Given the description of an element on the screen output the (x, y) to click on. 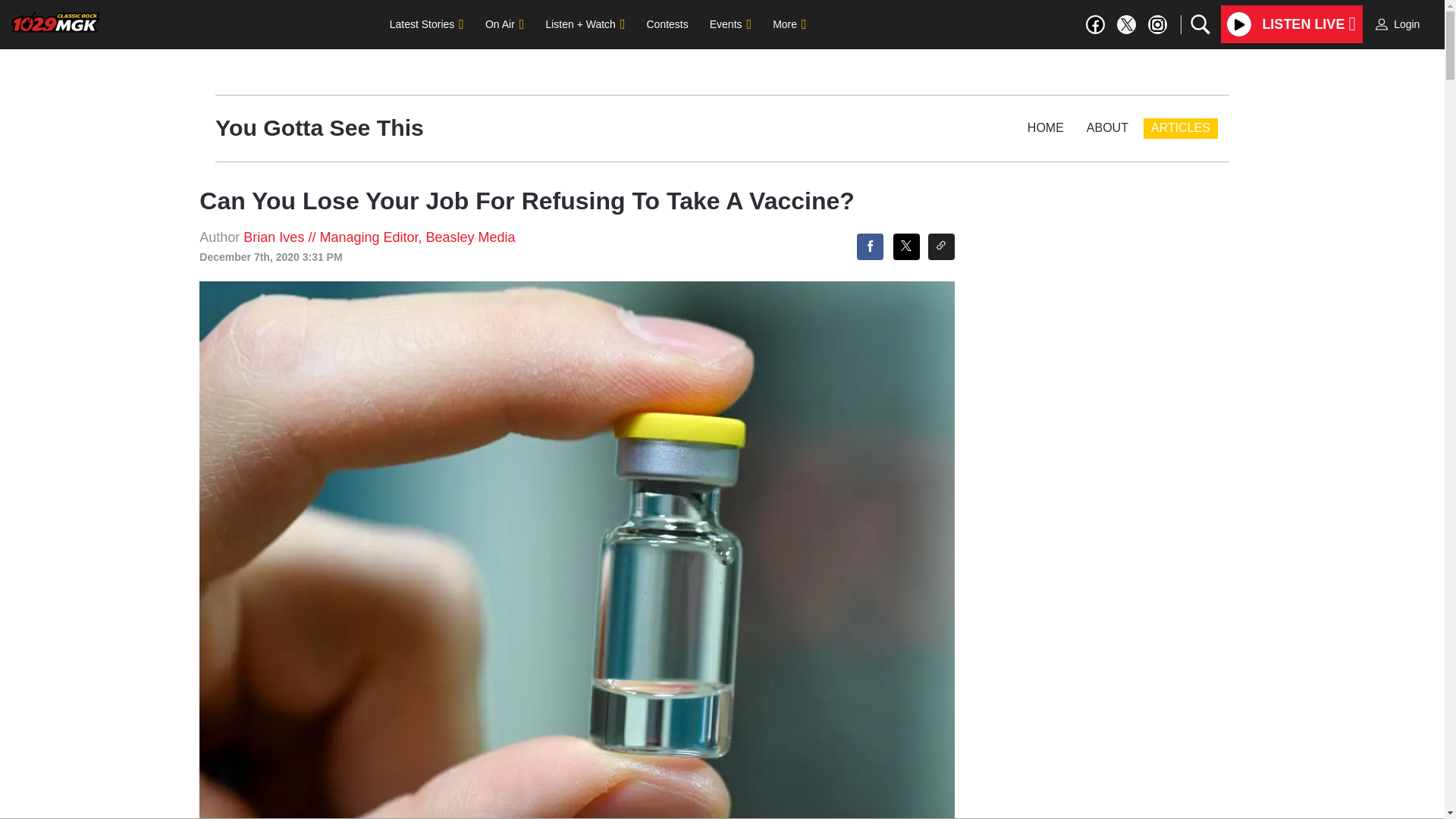
Latest Stories (426, 24)
Contests (666, 24)
On Air (504, 24)
Events (729, 24)
